Given the description of an element on the screen output the (x, y) to click on. 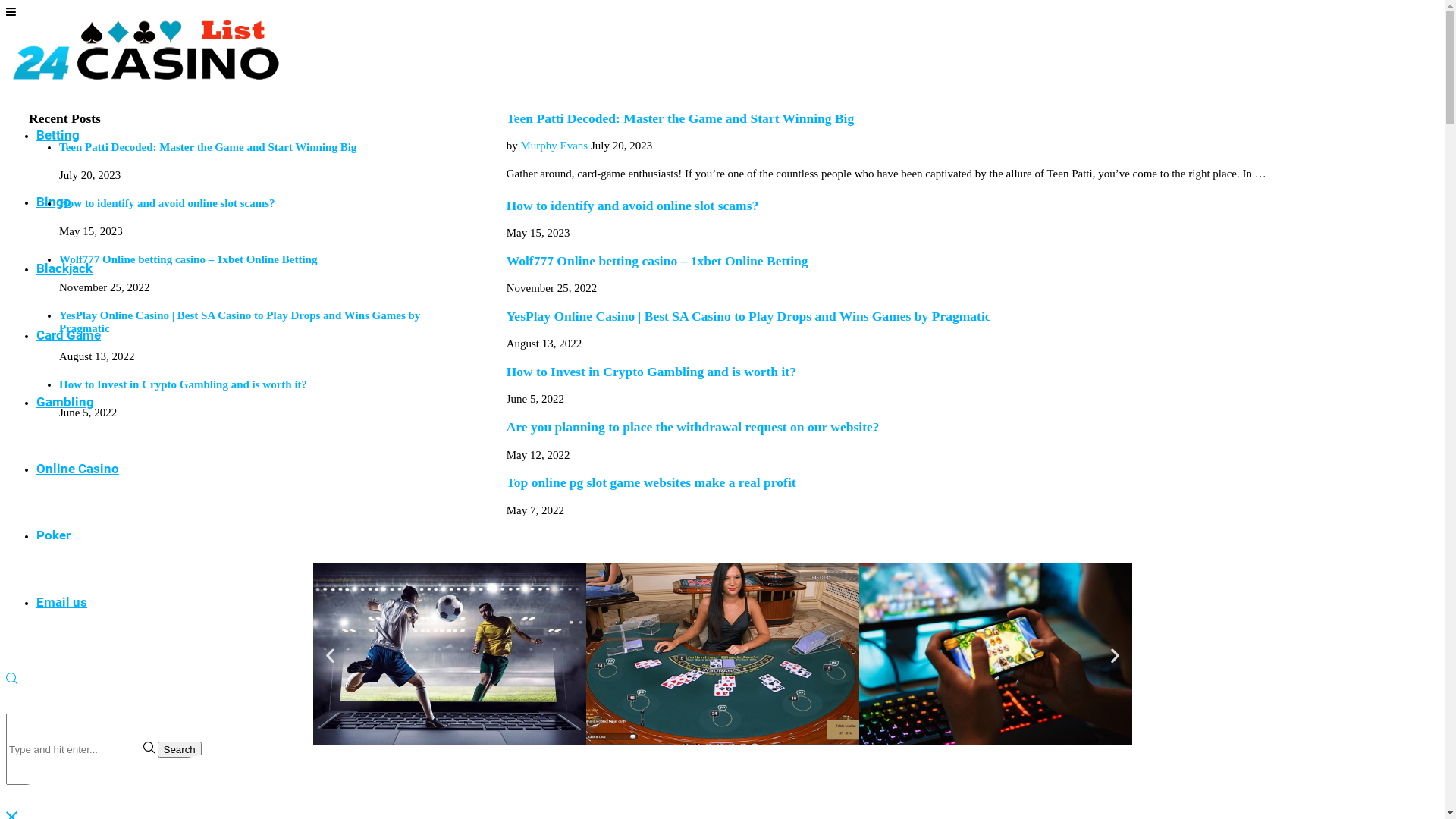
Teen Patti Decoded: Master the Game and Start Winning Big Element type: text (680, 117)
How to Invest in Crypto Gambling and is worth it? Element type: text (651, 371)
Poker Element type: text (53, 534)
Blackjack Element type: text (64, 268)
Bingo Element type: text (53, 201)
Search Element type: text (179, 749)
How to Invest in Crypto Gambling and is worth it? Element type: text (183, 384)
Online Casino Element type: text (77, 468)
Card Game Element type: text (68, 334)
Betting Element type: text (57, 134)
Email us Element type: text (61, 601)
How to identify and avoid online slot scams? Element type: text (632, 205)
Gambling Element type: text (65, 401)
How to identify and avoid online slot scams? Element type: text (167, 203)
Teen Patti Decoded: Master the Game and Start Winning Big Element type: text (207, 147)
Murphy Evans Element type: text (553, 145)
Top online pg slot game websites make a real profit Element type: text (651, 481)
